Given the description of an element on the screen output the (x, y) to click on. 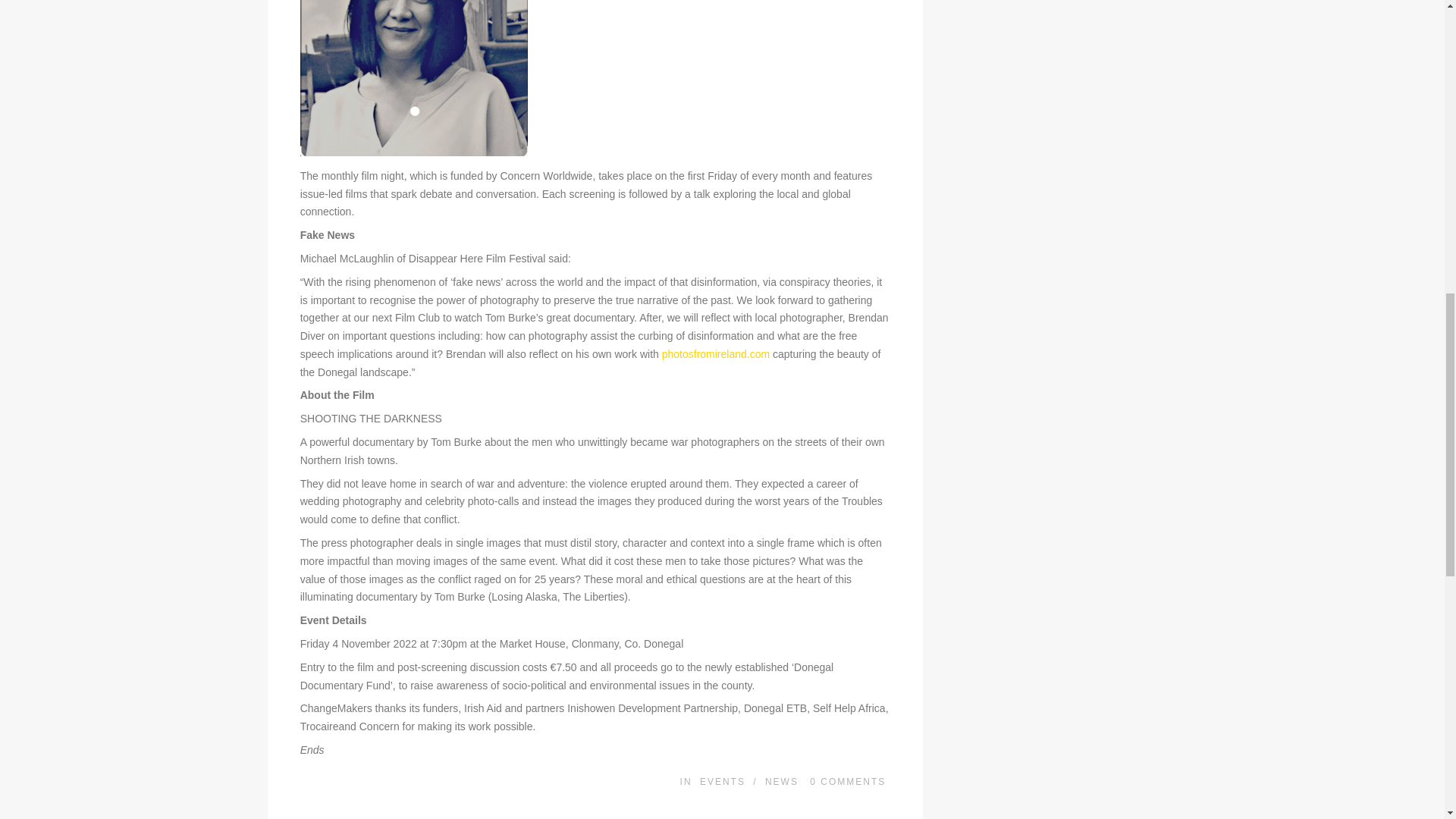
photosfromireland.com (716, 354)
0 COMMENTS (847, 781)
EVENTS (722, 781)
NEWS (781, 781)
